Given the description of an element on the screen output the (x, y) to click on. 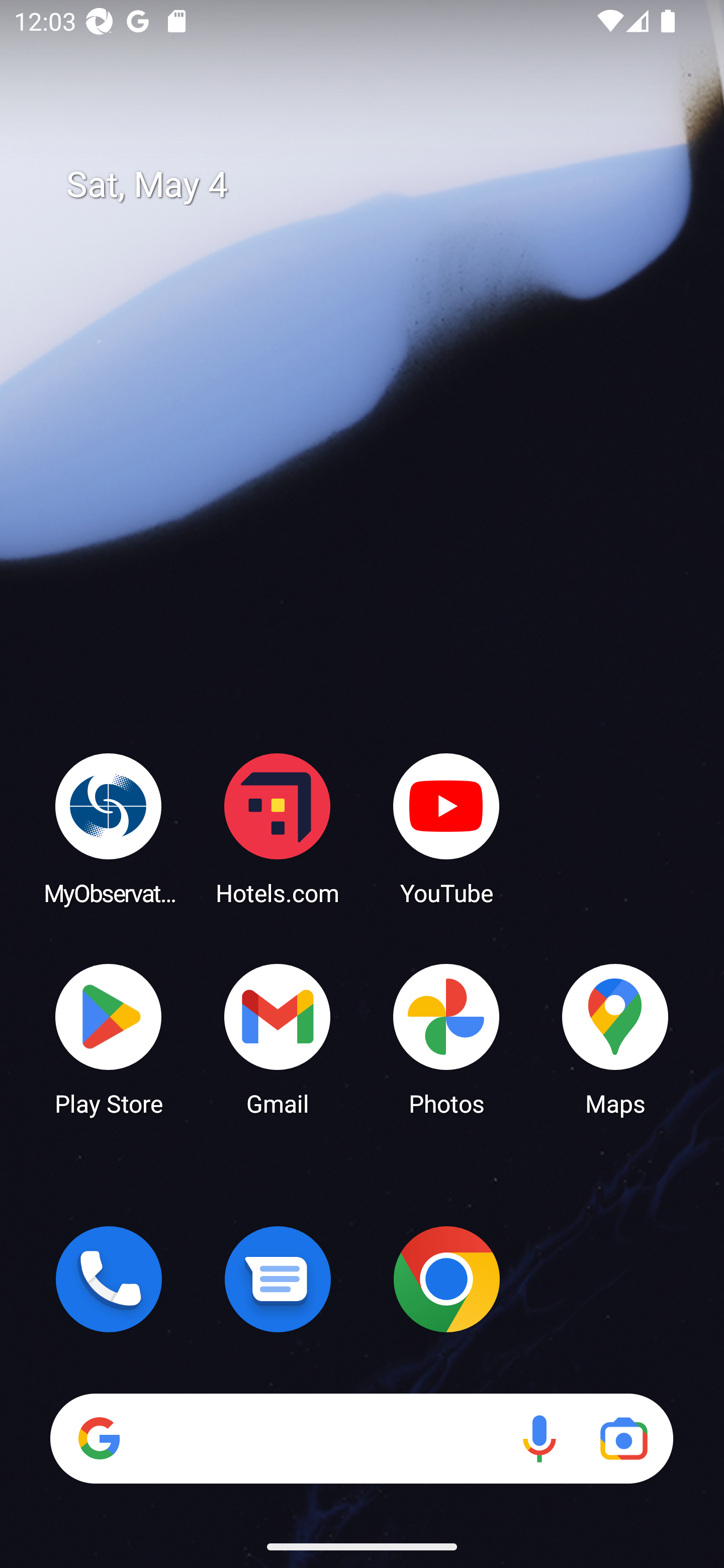
Sat, May 4 (375, 184)
MyObservatory (108, 828)
Hotels.com (277, 828)
YouTube (445, 828)
Play Store (108, 1038)
Gmail (277, 1038)
Photos (445, 1038)
Maps (615, 1038)
Phone (108, 1279)
Messages (277, 1279)
Chrome (446, 1279)
Search Voice search Google Lens (361, 1438)
Voice search (539, 1438)
Google Lens (623, 1438)
